Given the description of an element on the screen output the (x, y) to click on. 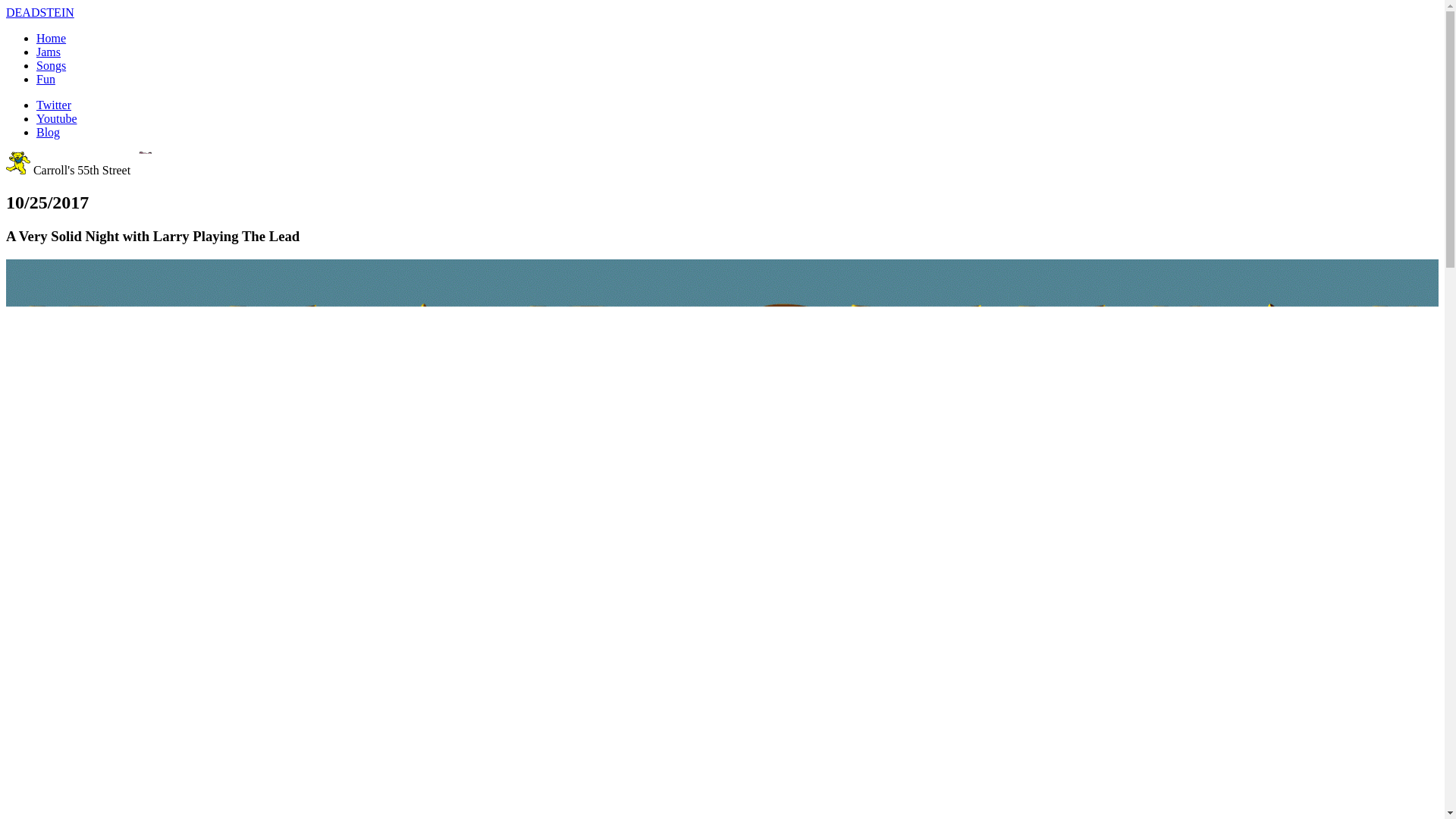
Youtube (56, 118)
DEADSTEIN (39, 11)
Fun (45, 78)
Songs (50, 65)
Twitter (53, 104)
Blog (47, 132)
Jams (48, 51)
Home (50, 38)
